Given the description of an element on the screen output the (x, y) to click on. 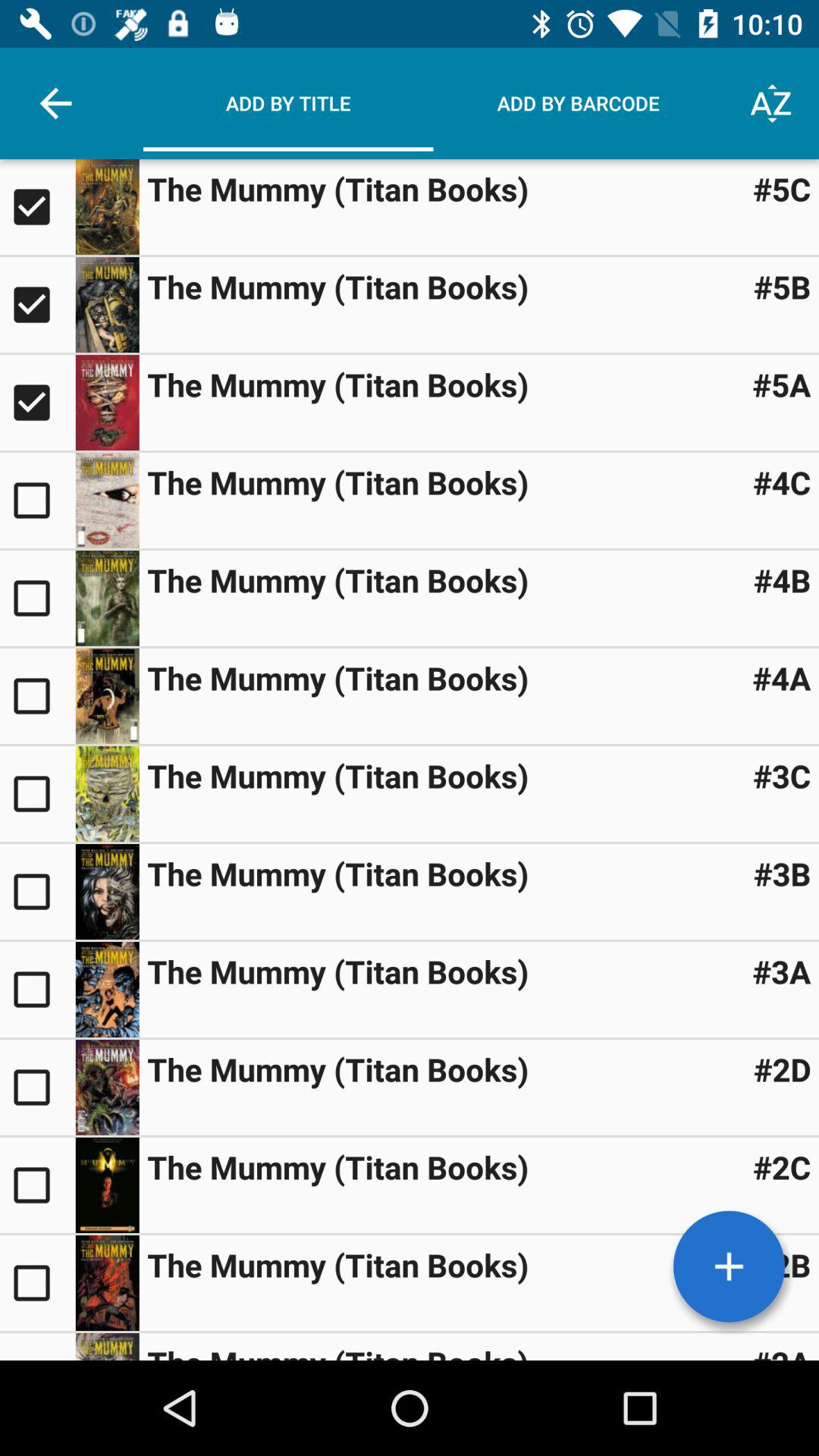
select image to enlarge (107, 793)
